Given the description of an element on the screen output the (x, y) to click on. 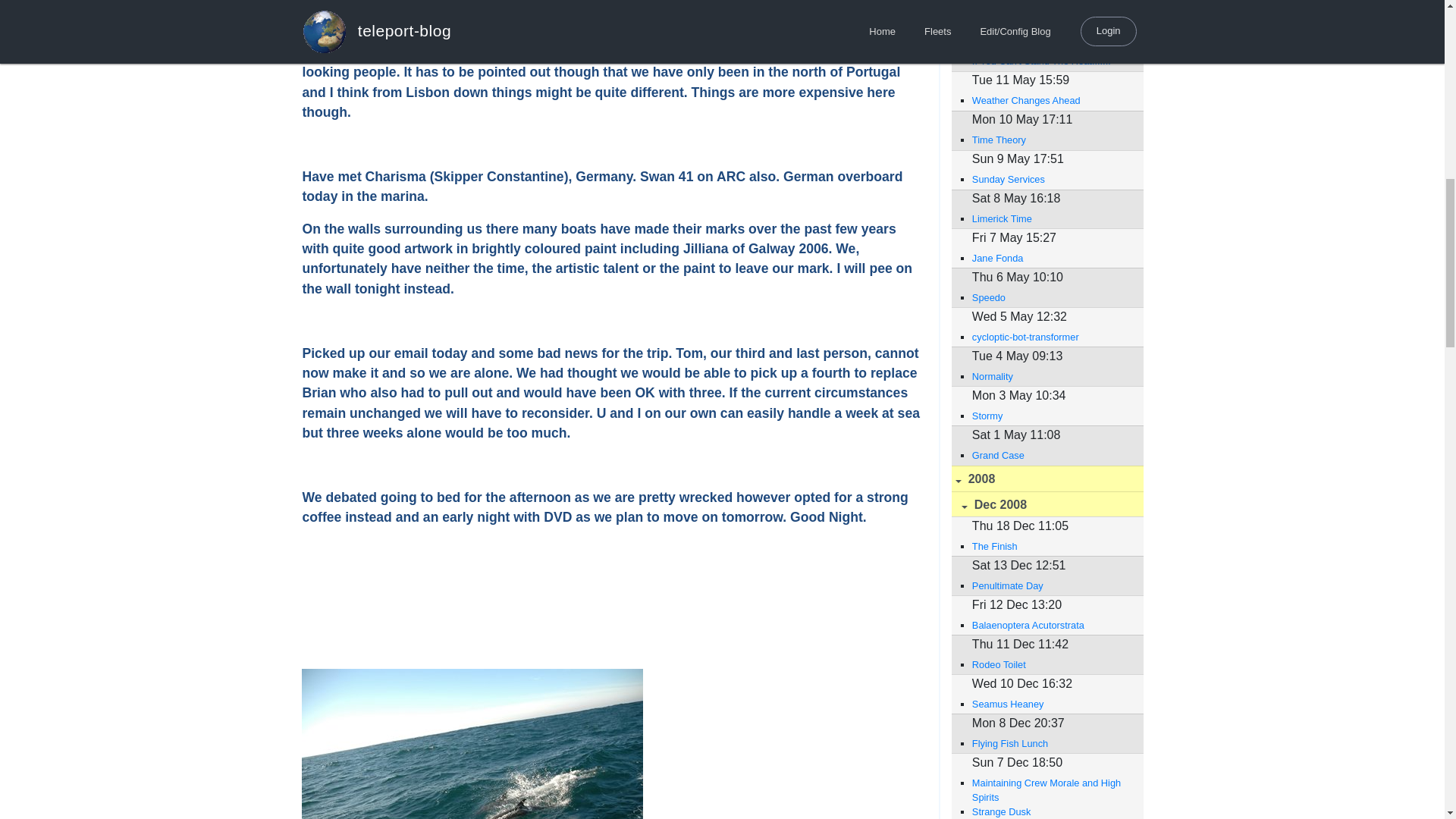
Time Theory (1050, 139)
Halfway Marker (1050, 21)
Weather Changes Ahead (1050, 100)
If You Can't Stand The Heat....... (1050, 60)
